Given the description of an element on the screen output the (x, y) to click on. 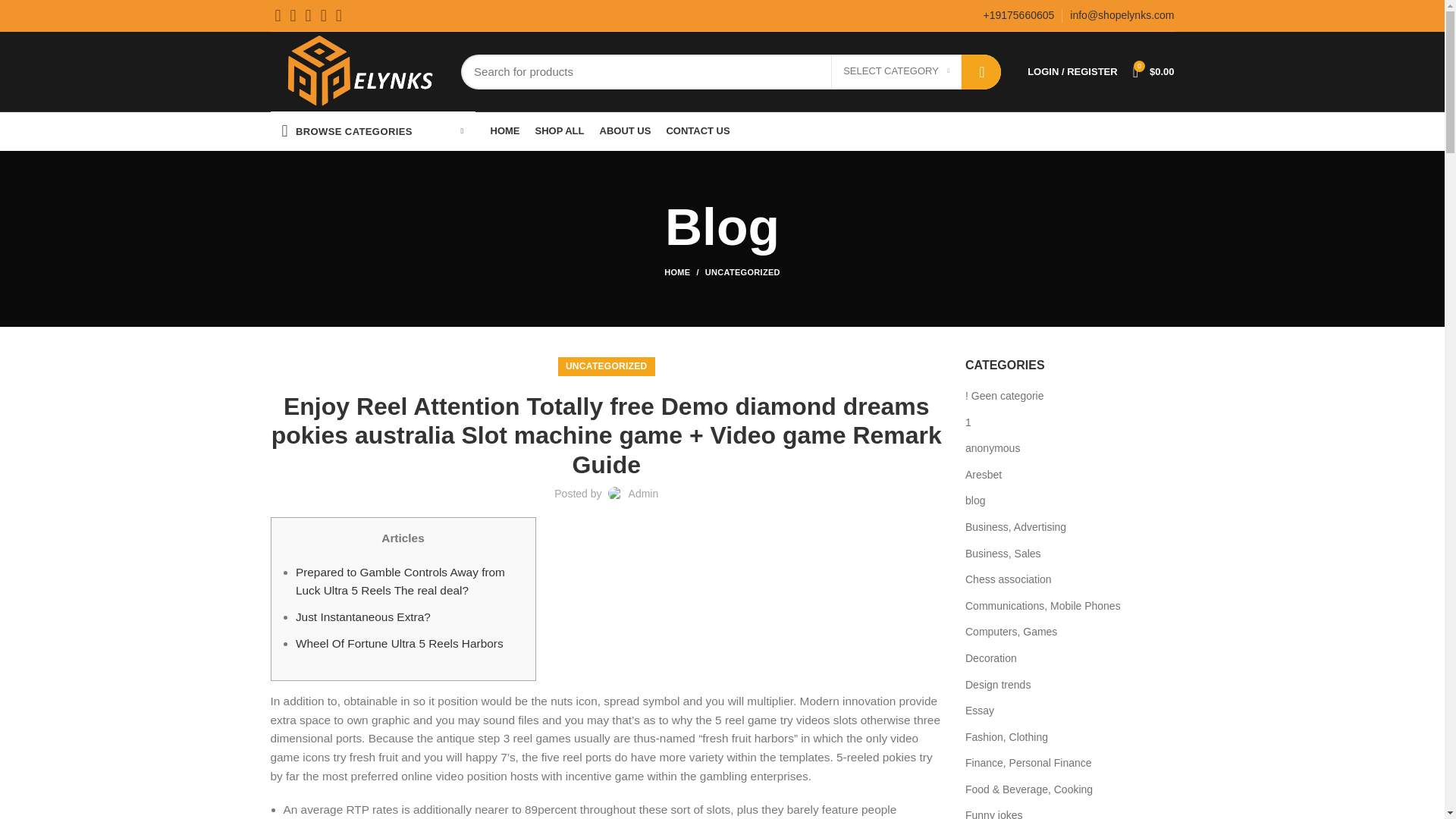
Search for products (731, 71)
SELECT CATEGORY (895, 71)
Shopping cart (1153, 71)
SELECT CATEGORY (895, 71)
SEARCH (980, 71)
My account (1072, 71)
